Given the description of an element on the screen output the (x, y) to click on. 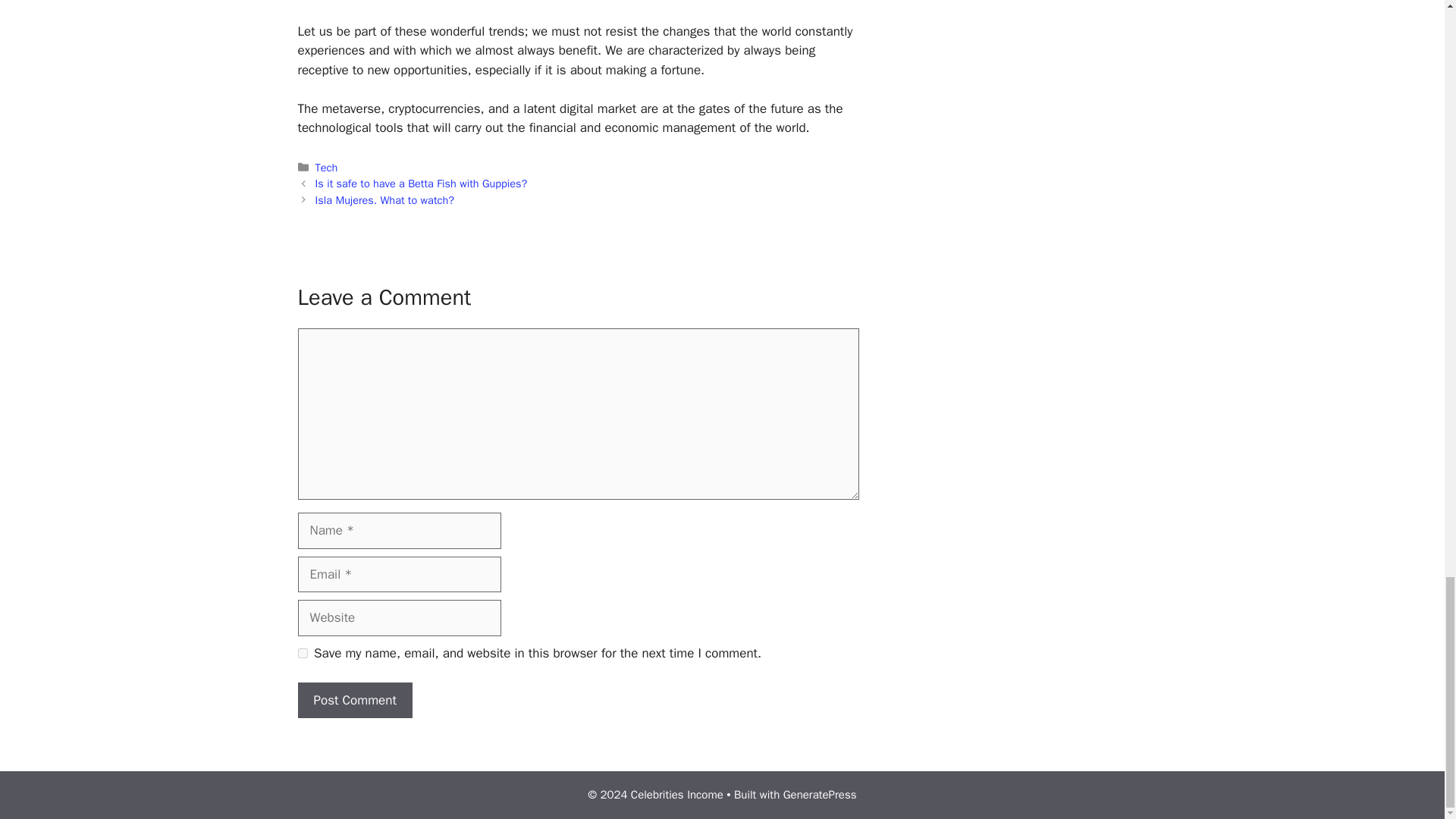
Post Comment (354, 700)
Isla Mujeres. What to watch? (384, 200)
Tech (326, 167)
yes (302, 653)
Post Comment (354, 700)
Is it safe to have a Betta Fish with Guppies? (421, 183)
GeneratePress (820, 794)
